Given the description of an element on the screen output the (x, y) to click on. 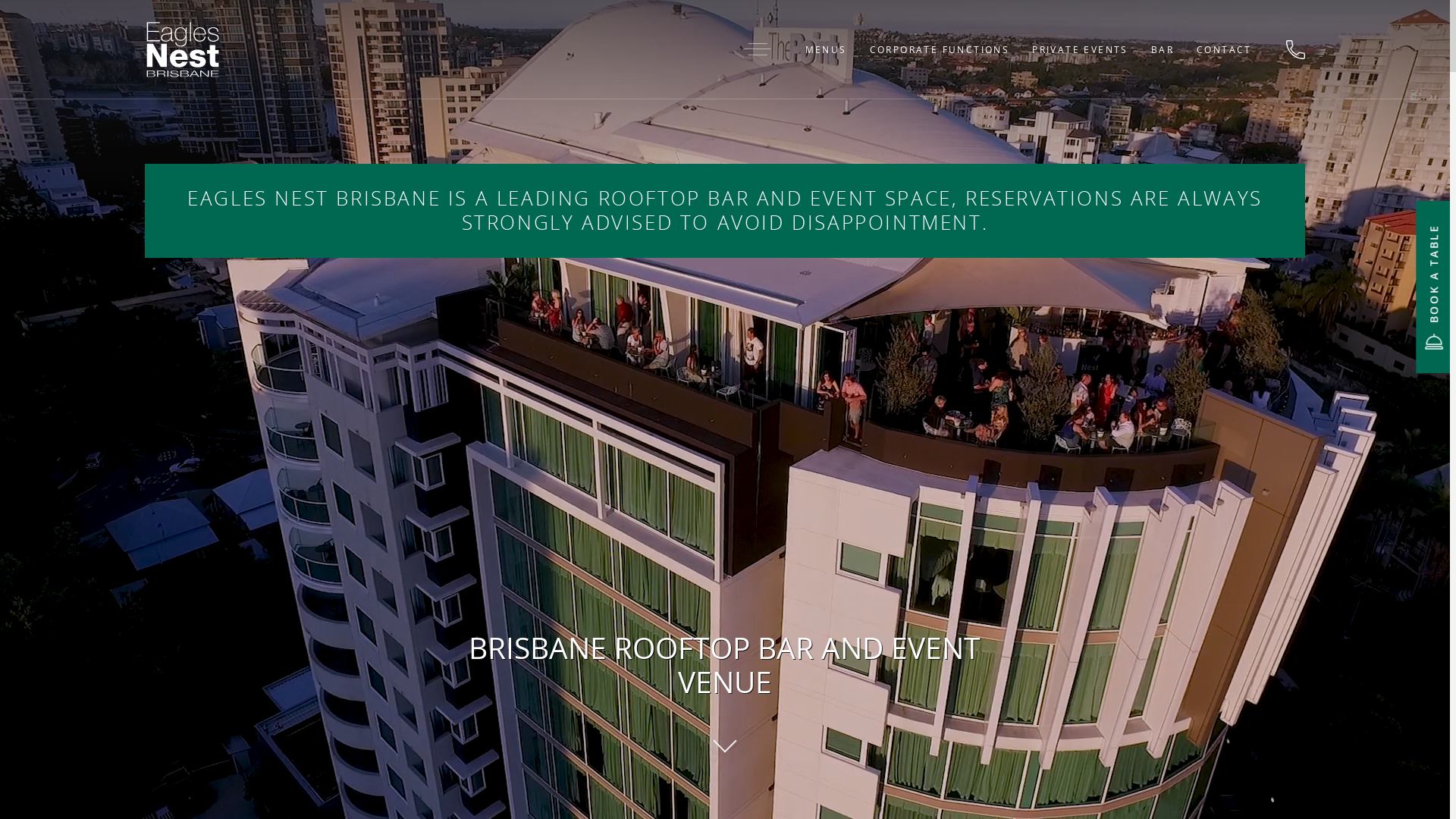
CONTACT Element type: text (1224, 49)
Call Us Element type: hover (1295, 48)
MENUS Element type: text (825, 49)
BAR Element type: text (1162, 49)
PRIVATE EVENTS Element type: text (1079, 49)
Eagles Nest Element type: hover (182, 48)
CORPORATE FUNCTIONS Element type: text (939, 49)
